Given the description of an element on the screen output the (x, y) to click on. 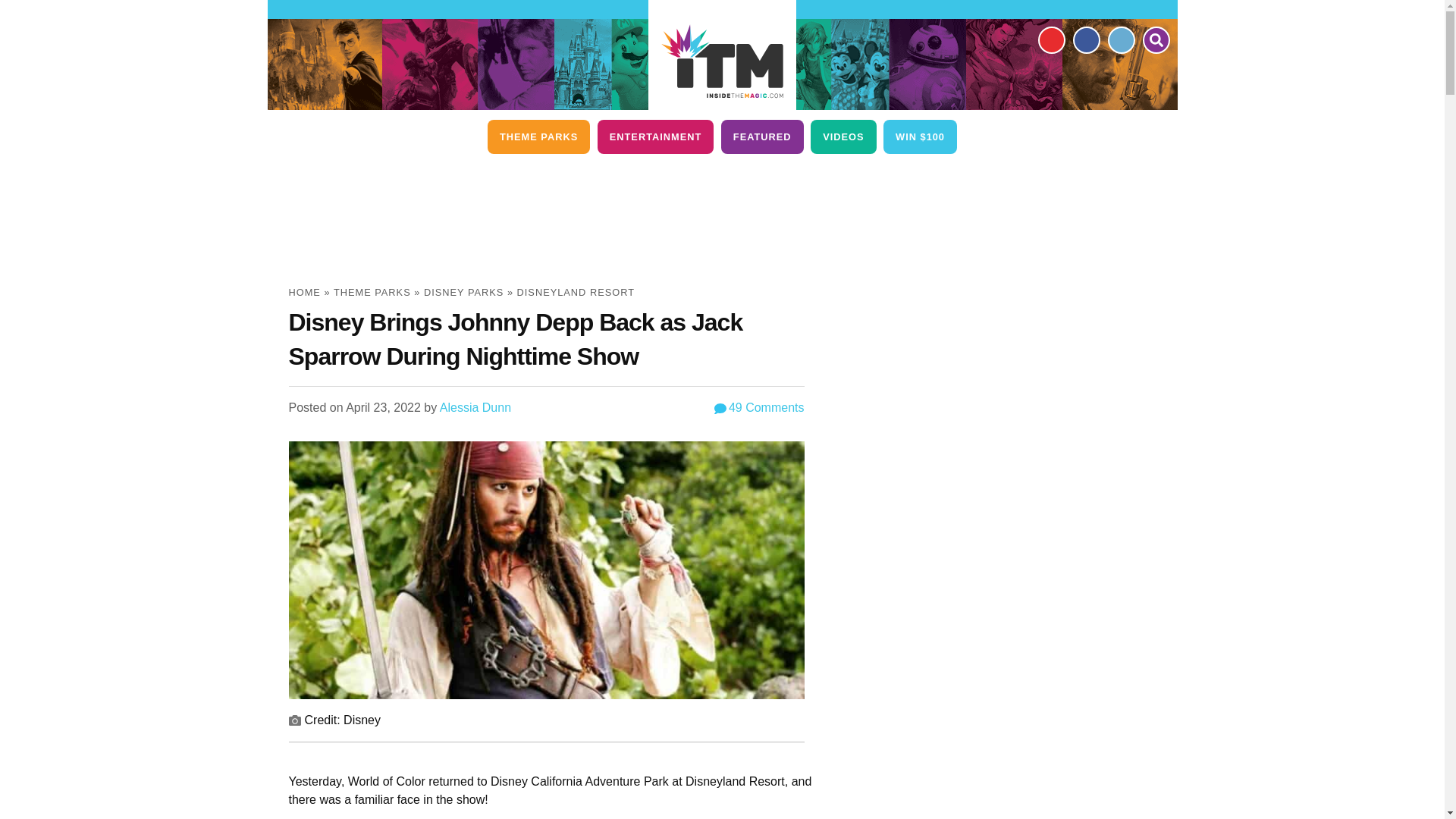
Search (1155, 40)
Facebook (1085, 40)
FEATURED (761, 136)
ENTERTAINMENT (655, 136)
YouTube (1050, 40)
Twitter (1120, 40)
THEME PARKS (538, 136)
